Given the description of an element on the screen output the (x, y) to click on. 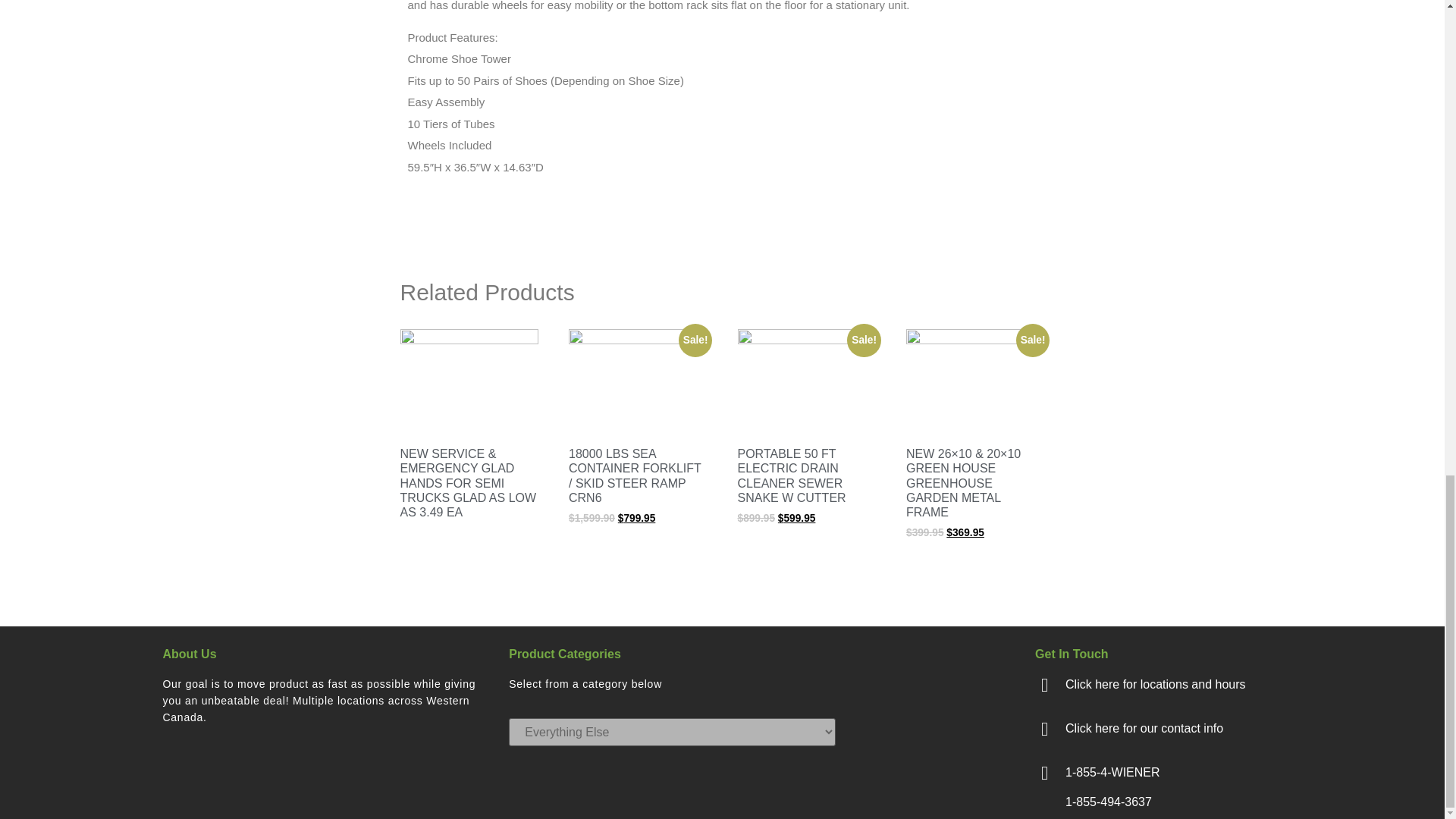
Click here for our contact info (1144, 727)
Click here for locations and hours (1154, 684)
Product Categories (564, 653)
